Given the description of an element on the screen output the (x, y) to click on. 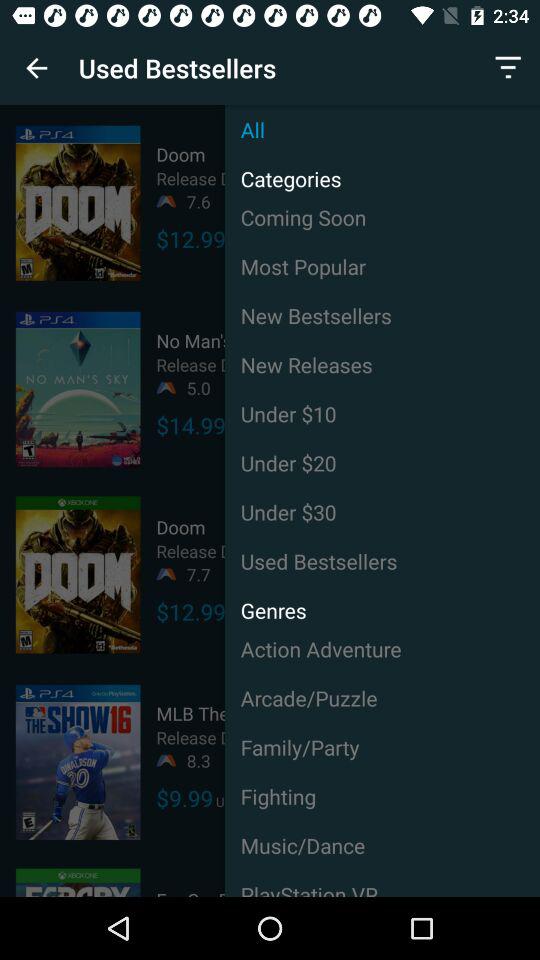
select the item below the used item (382, 648)
